Given the description of an element on the screen output the (x, y) to click on. 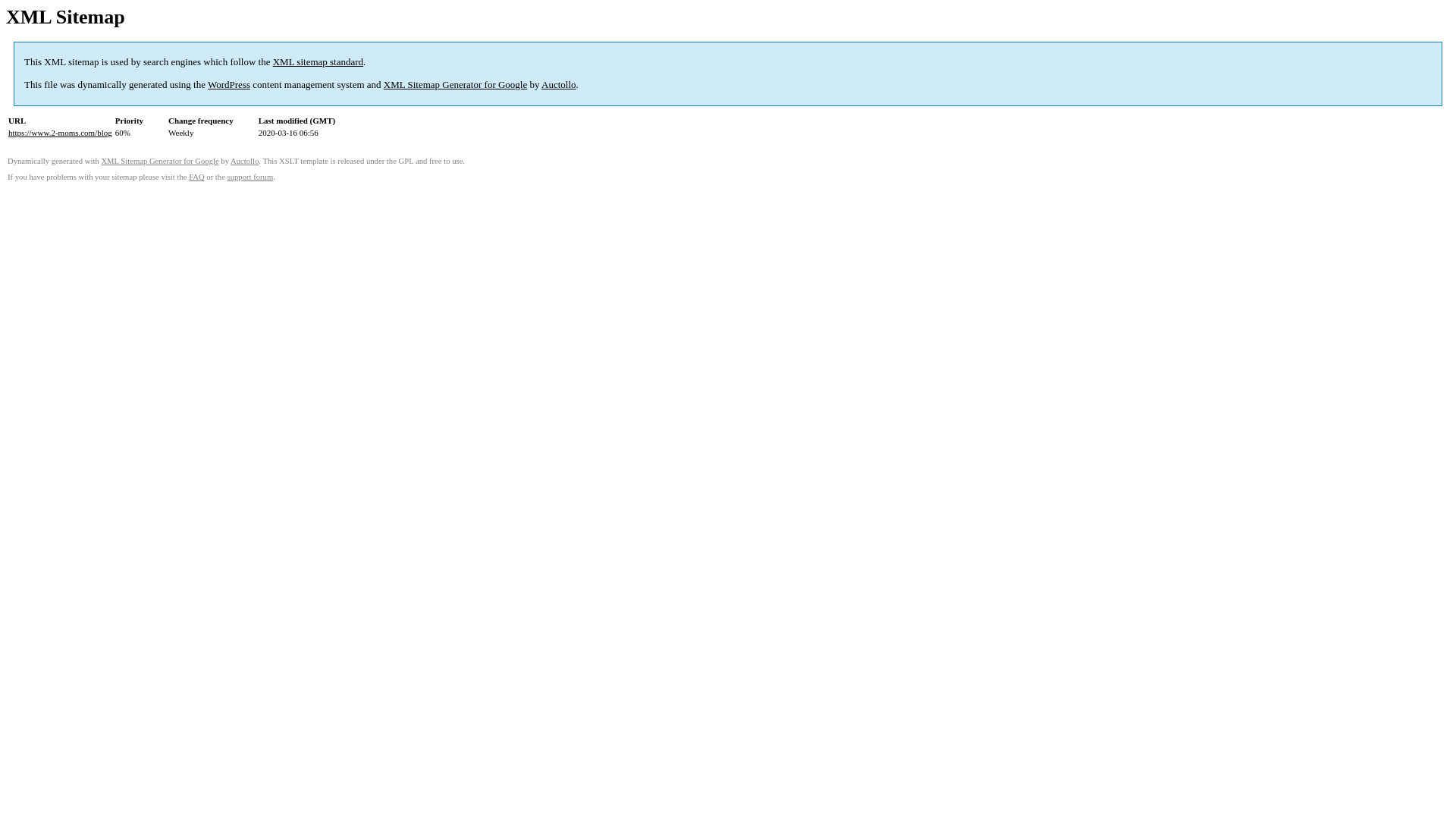
XML Sitemap Generator for Google Element type: text (159, 160)
FAQ Element type: text (196, 176)
Auctollo Element type: text (558, 84)
XML sitemap standard Element type: text (318, 61)
XML Sitemap Generator for Google Element type: text (455, 84)
Auctollo Element type: text (244, 160)
https://www.2-moms.com/blog Element type: text (60, 132)
WordPress Element type: text (228, 84)
support forum Element type: text (250, 176)
